Given the description of an element on the screen output the (x, y) to click on. 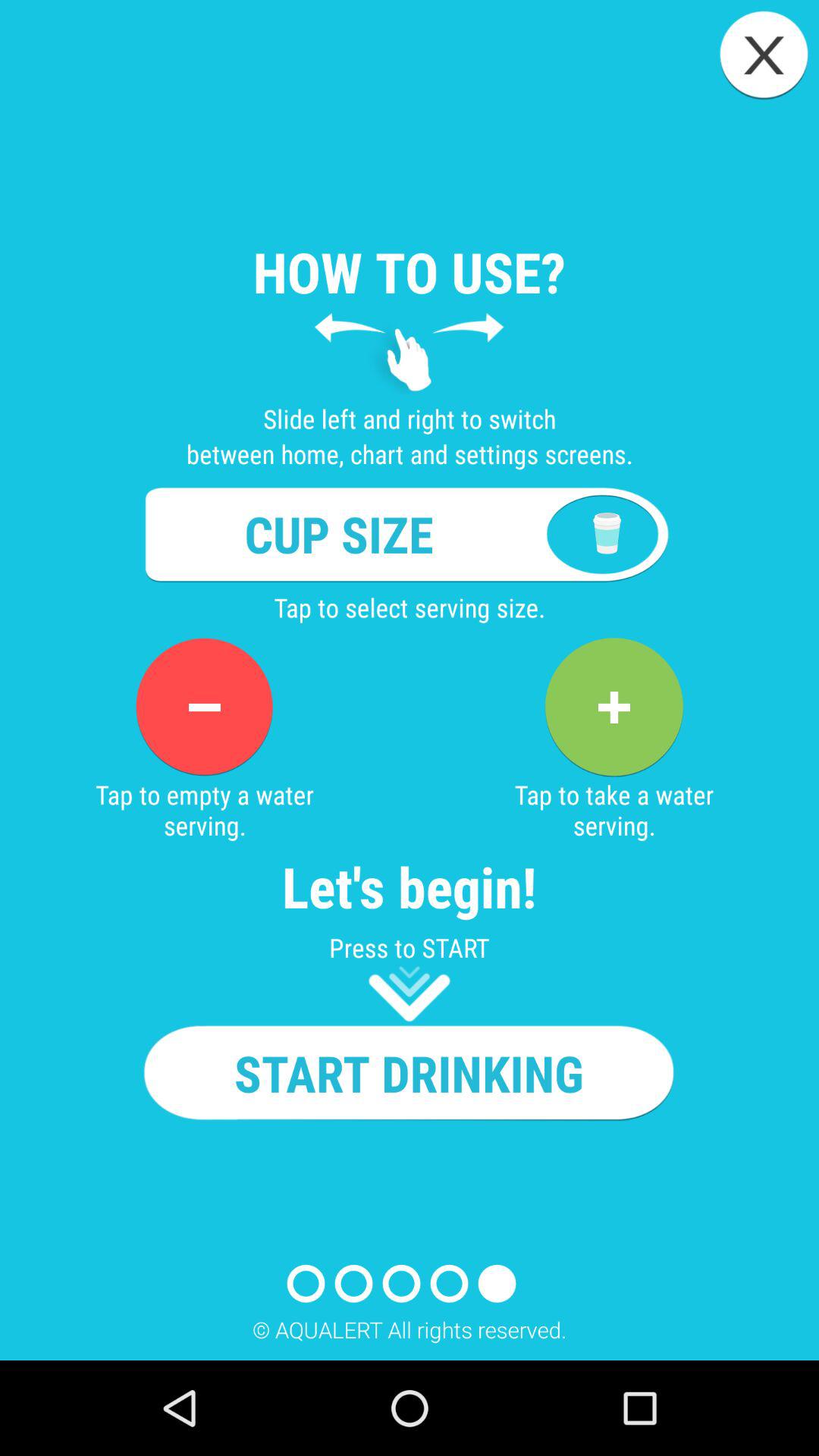
close (763, 55)
